Given the description of an element on the screen output the (x, y) to click on. 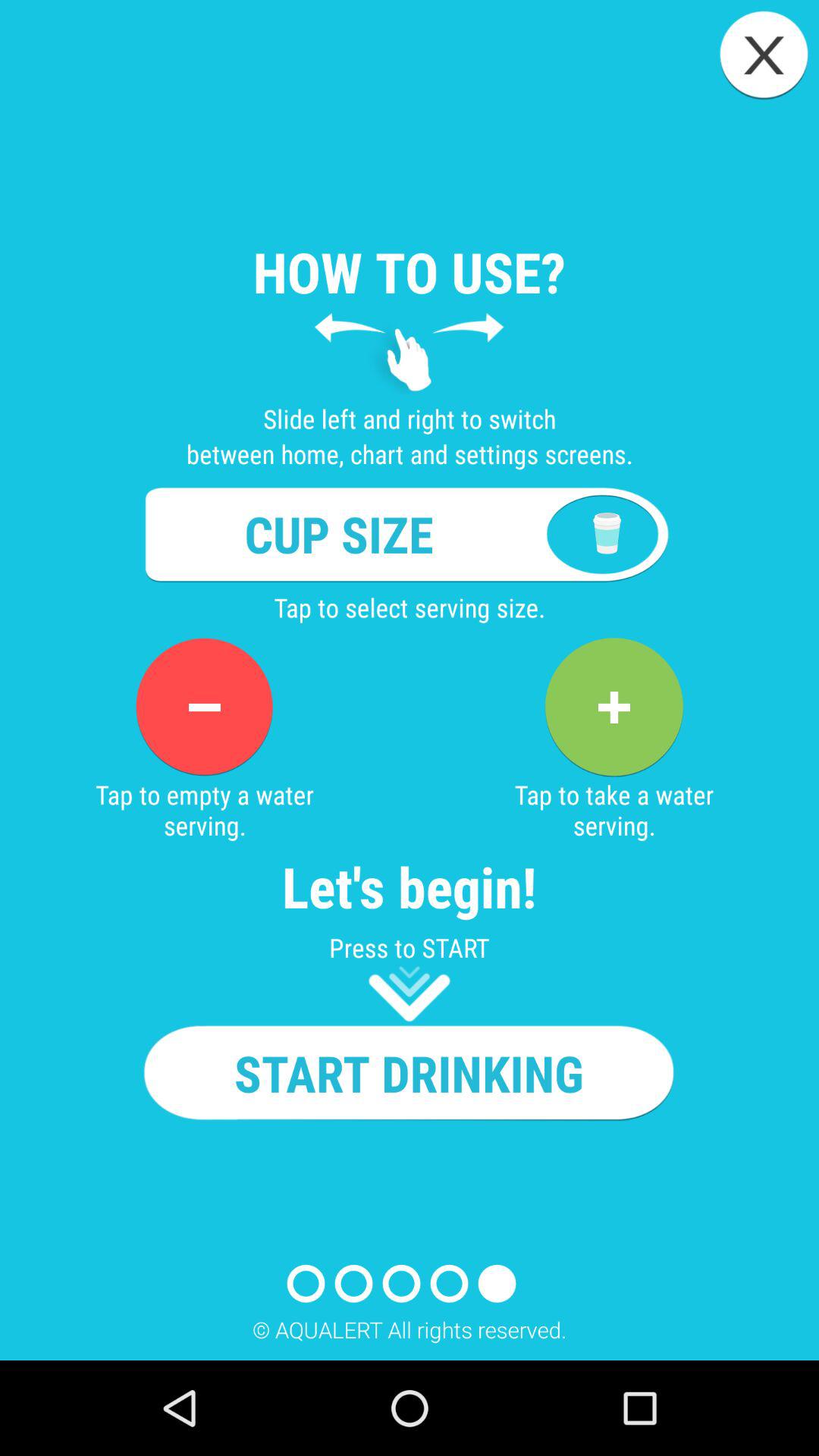
close (763, 55)
